Given the description of an element on the screen output the (x, y) to click on. 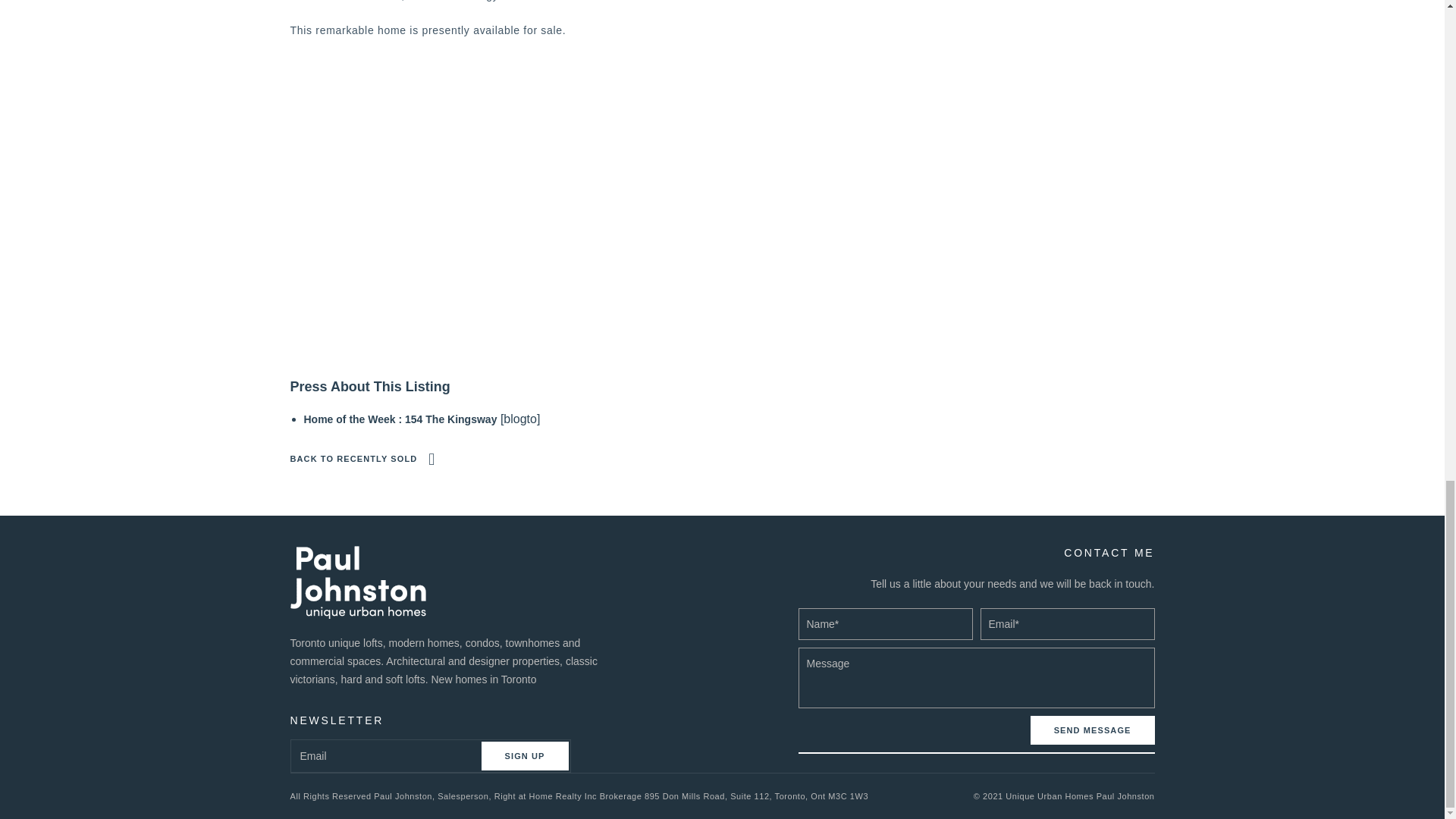
BACK TO RECENTLY SOLD (362, 458)
Sign up (525, 756)
Send message (1092, 729)
Sign up (525, 756)
Home of the Week : 154 The Kingsway (399, 419)
Send message (1092, 729)
